Given the description of an element on the screen output the (x, y) to click on. 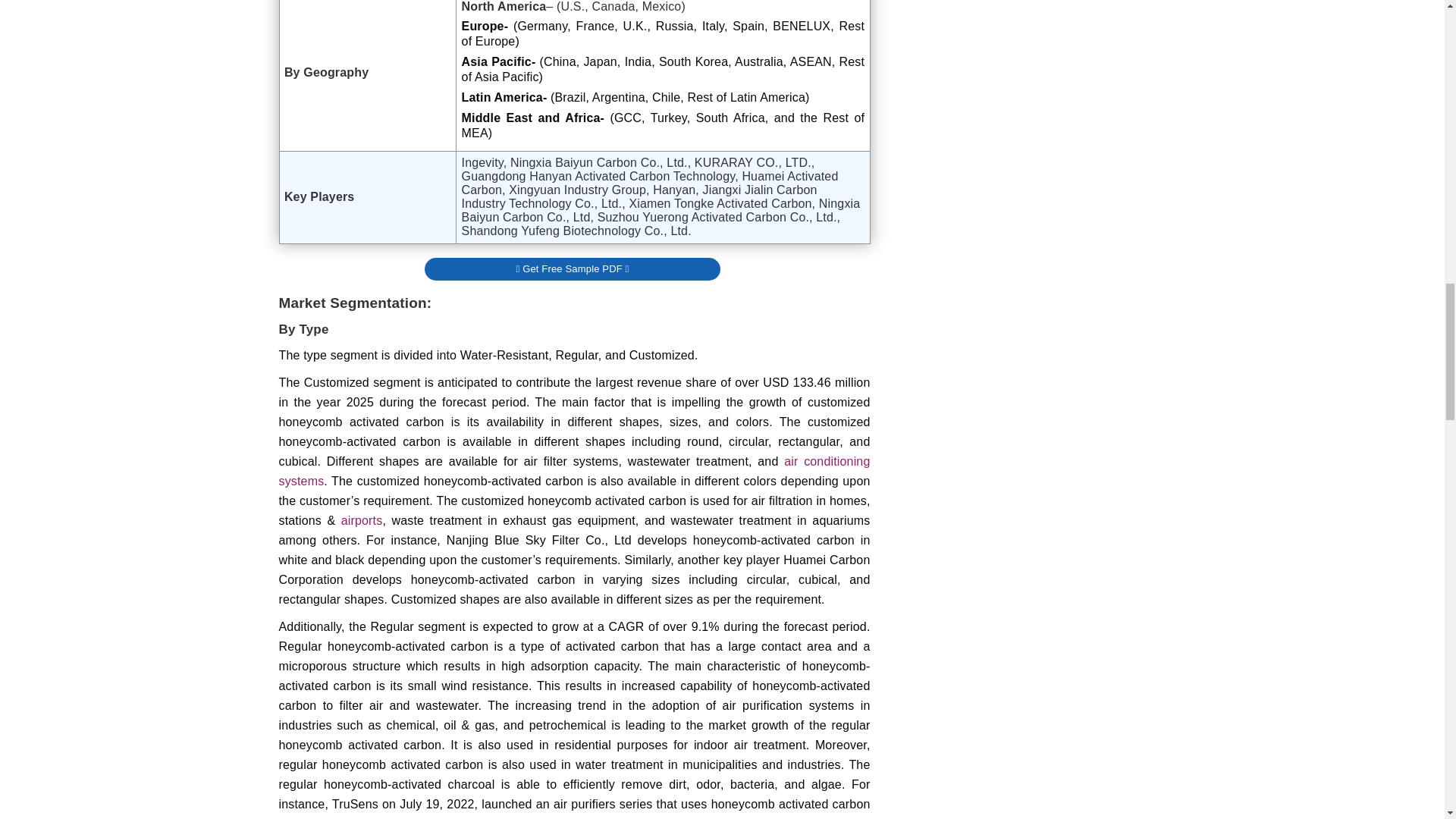
Get Free Sample PDF (572, 261)
air conditioning systems (574, 471)
